Given the description of an element on the screen output the (x, y) to click on. 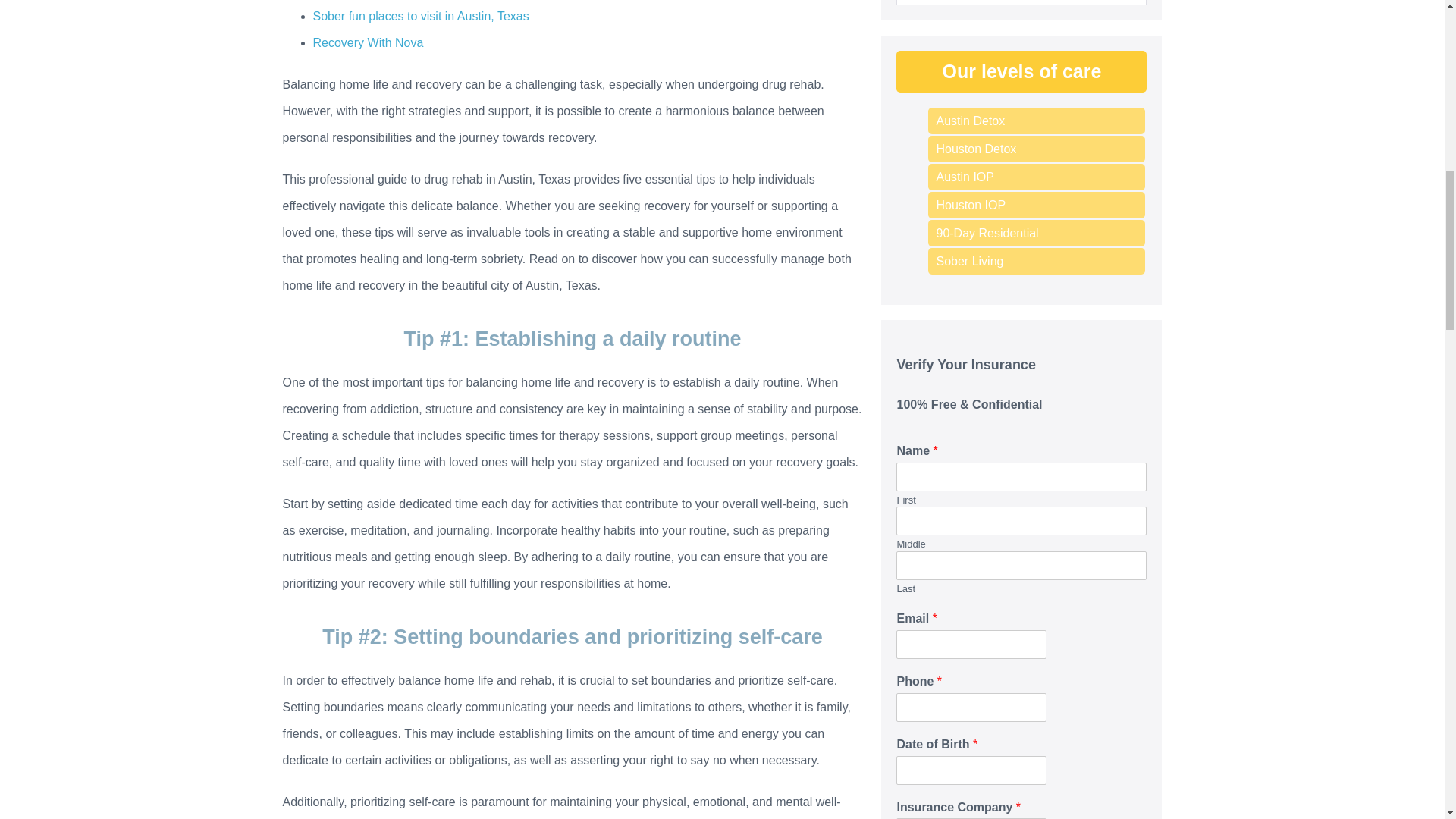
Press enter to search (1021, 2)
